Given the description of an element on the screen output the (x, y) to click on. 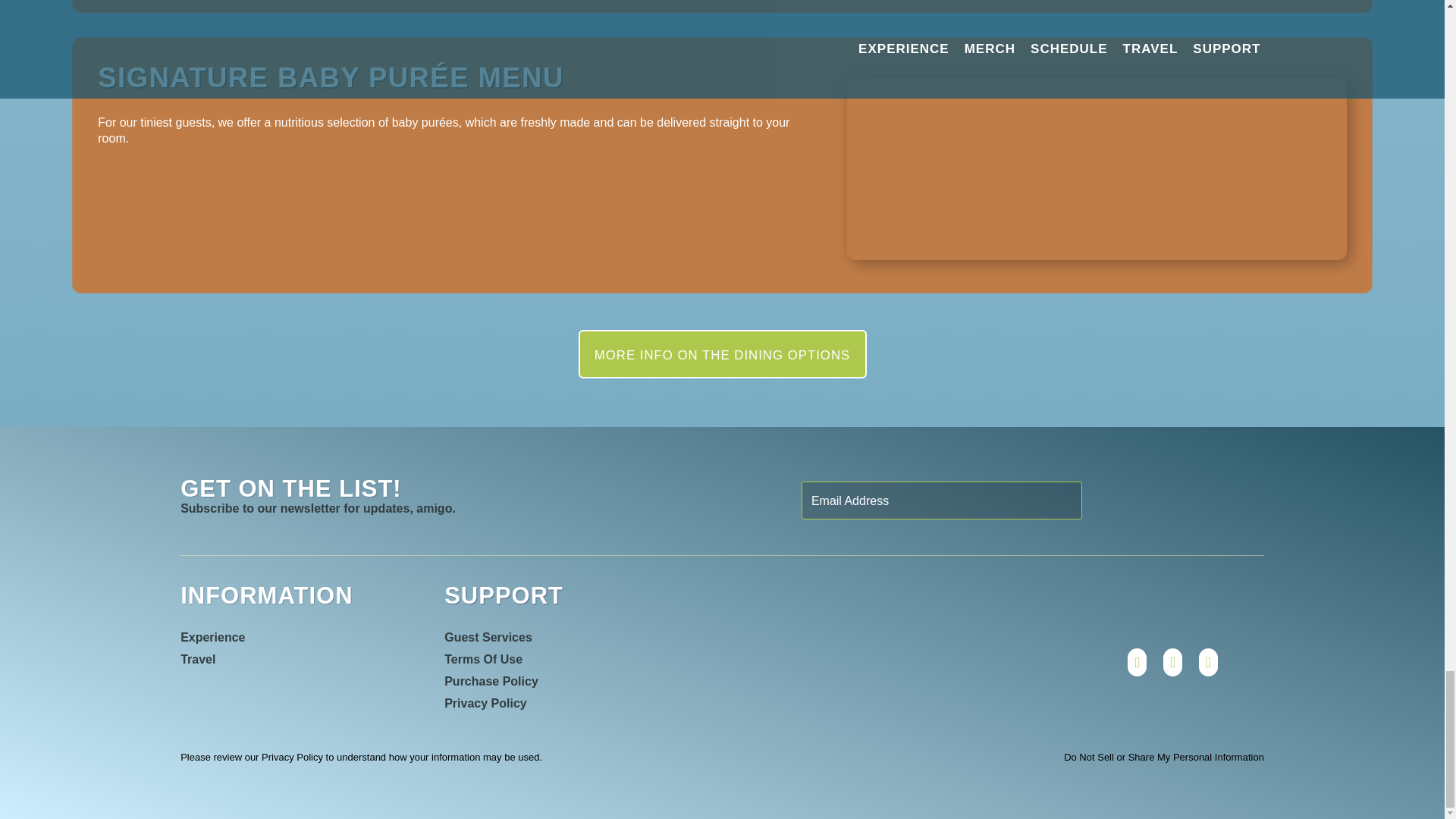
Subscribe (1180, 500)
Do Not Sell or Share My Personal Information (1163, 757)
Experience (280, 637)
Privacy Policy (518, 702)
Terms Of Use (518, 658)
Guest Services (518, 637)
MORE INFO ON THE DINING OPTIONS (722, 354)
Purchase Policy (518, 681)
Travel (280, 658)
